Given the description of an element on the screen output the (x, y) to click on. 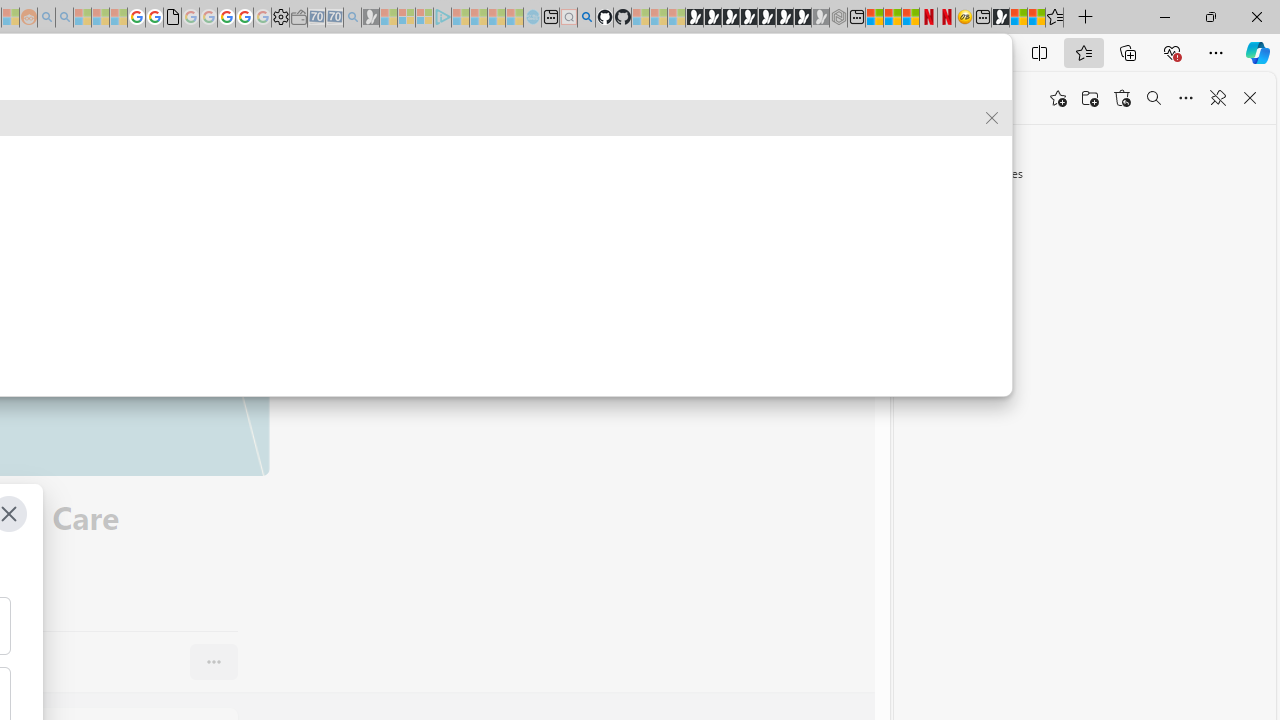
github - Search (586, 17)
Wallet - Sleeping (298, 17)
Close favorites (1250, 98)
Forgotten account? (778, 97)
